Given the description of an element on the screen output the (x, y) to click on. 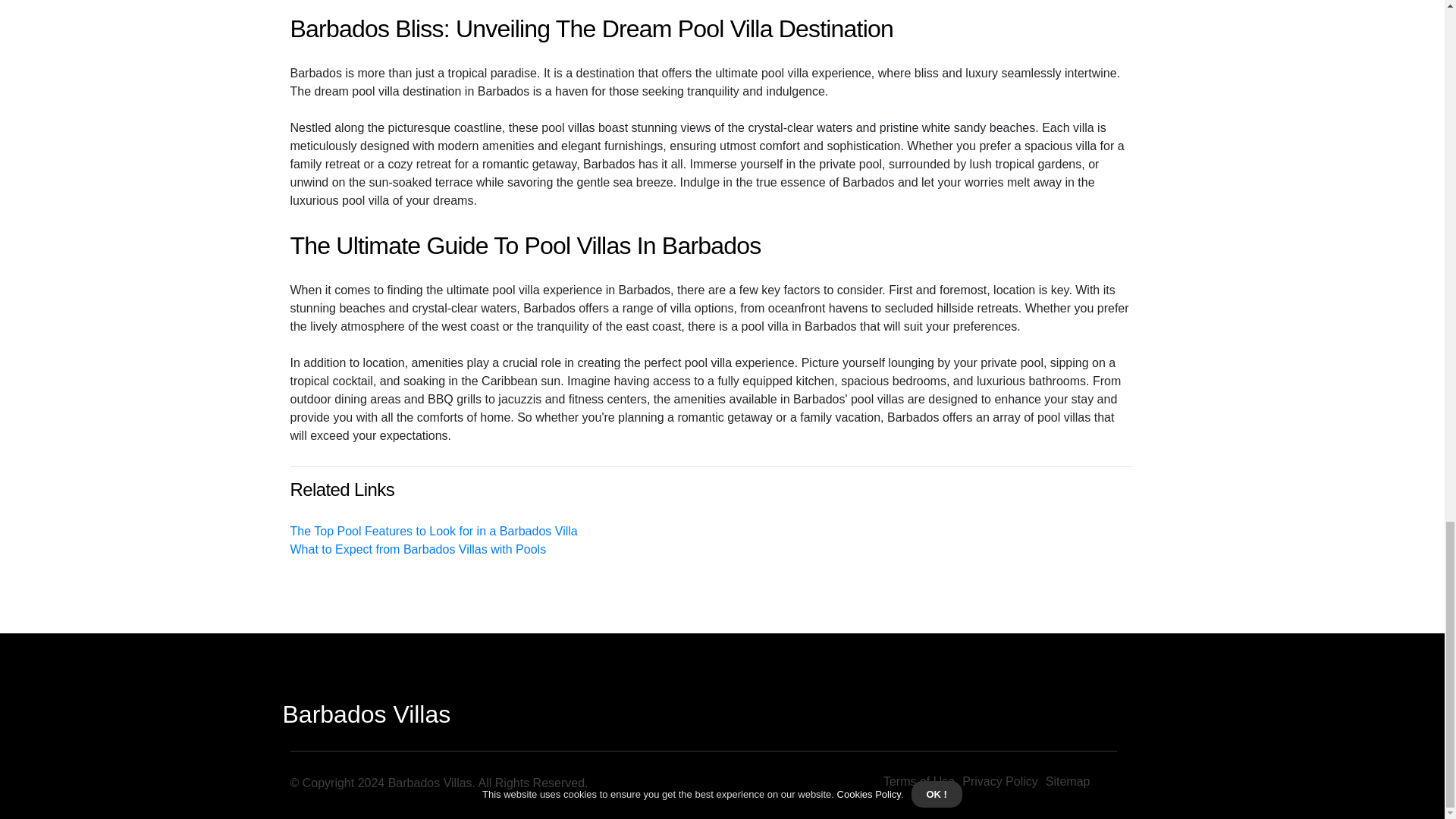
What to Expect from Barbados Villas with Pools (417, 549)
The Top Pool Features to Look for in a Barbados Villa (432, 530)
